Given the description of an element on the screen output the (x, y) to click on. 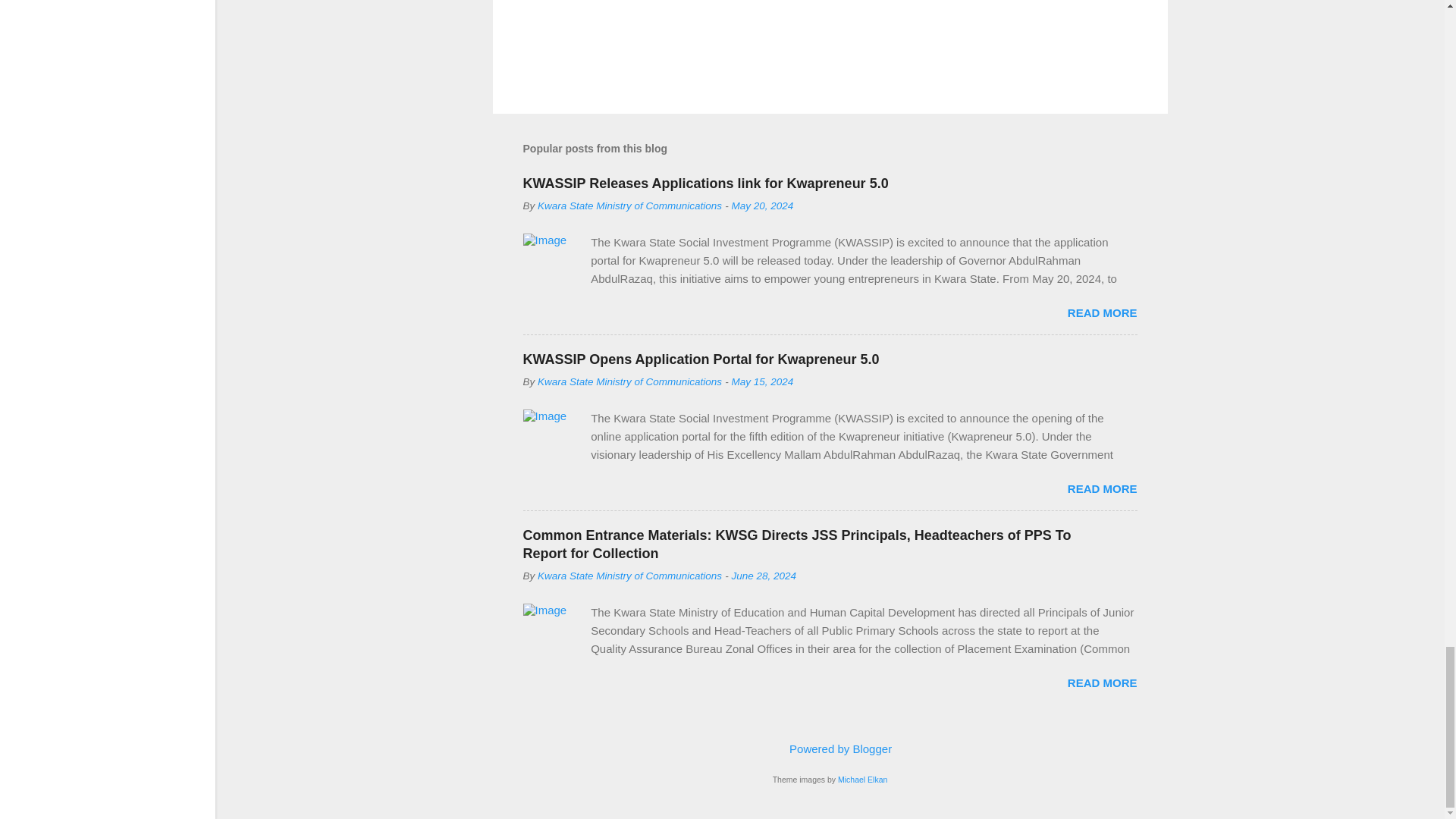
June 28, 2024 (764, 575)
May 20, 2024 (762, 205)
Kwara State Ministry of Communications (629, 575)
READ MORE (1102, 488)
READ MORE (1102, 682)
author profile (629, 205)
KWASSIP Opens Application Portal for Kwapreneur 5.0 (700, 359)
KWASSIP Releases Applications link for Kwapreneur 5.0 (705, 183)
May 15, 2024 (762, 381)
Kwara State Ministry of Communications (629, 381)
Kwara State Ministry of Communications (629, 205)
READ MORE (1102, 312)
Powered by Blogger (829, 748)
Michael Elkan (862, 778)
